Given the description of an element on the screen output the (x, y) to click on. 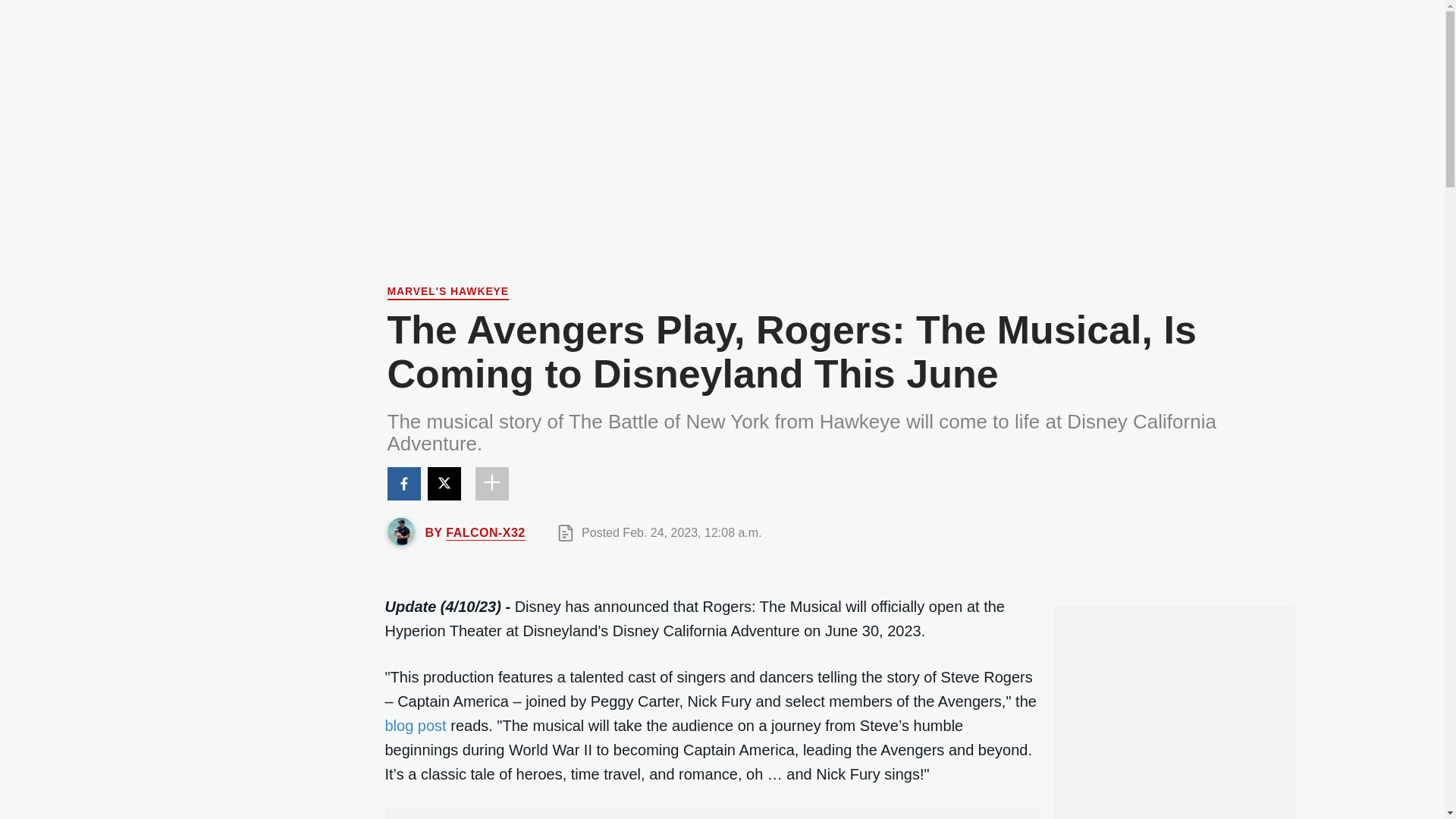
Marvel's Hawkeye (447, 292)
MARVEL'S HAWKEYE (447, 292)
blog post (415, 725)
FALCON-X32 (484, 532)
